Given the description of an element on the screen output the (x, y) to click on. 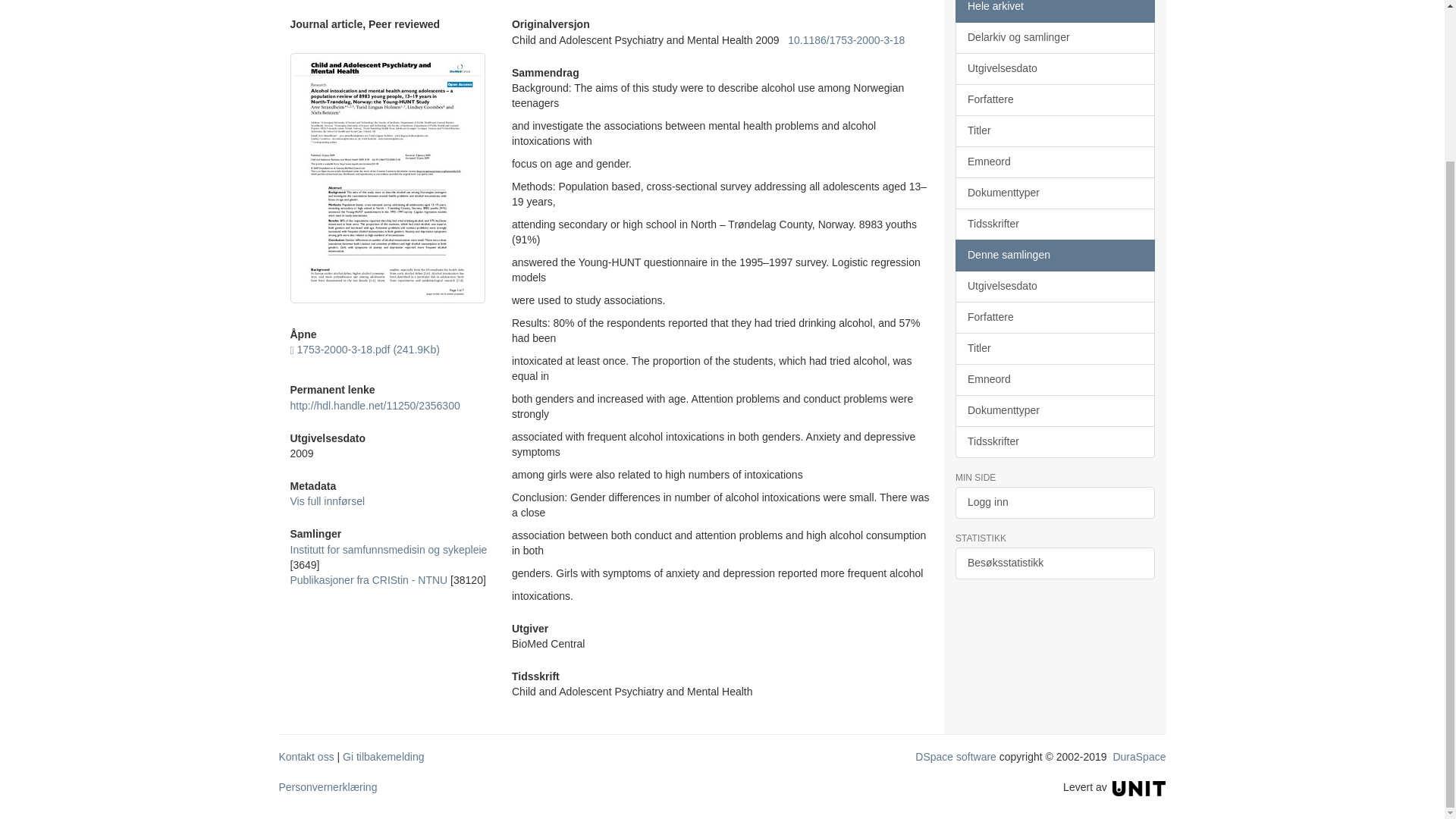
Hele arkivet (1054, 11)
Unit (1139, 787)
Utgivelsesdato (1054, 69)
Institutt for samfunnsmedisin og sykepleie (387, 549)
Delarkiv og samlinger (1054, 38)
Publikasjoner fra CRIStin - NTNU (367, 580)
